Given the description of an element on the screen output the (x, y) to click on. 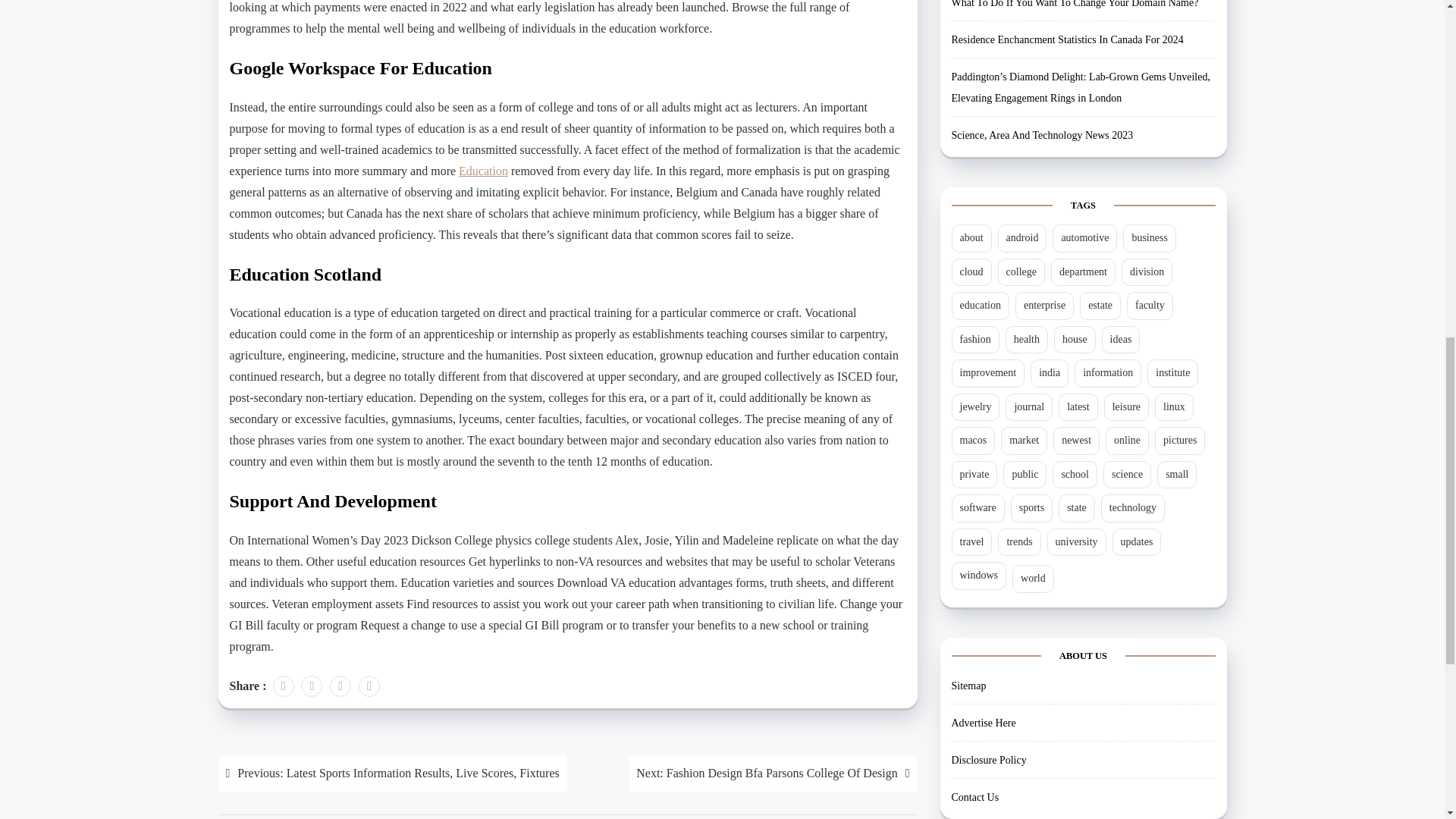
Education (483, 170)
Next: Fashion Design Bfa Parsons College Of Design (772, 773)
